Given the description of an element on the screen output the (x, y) to click on. 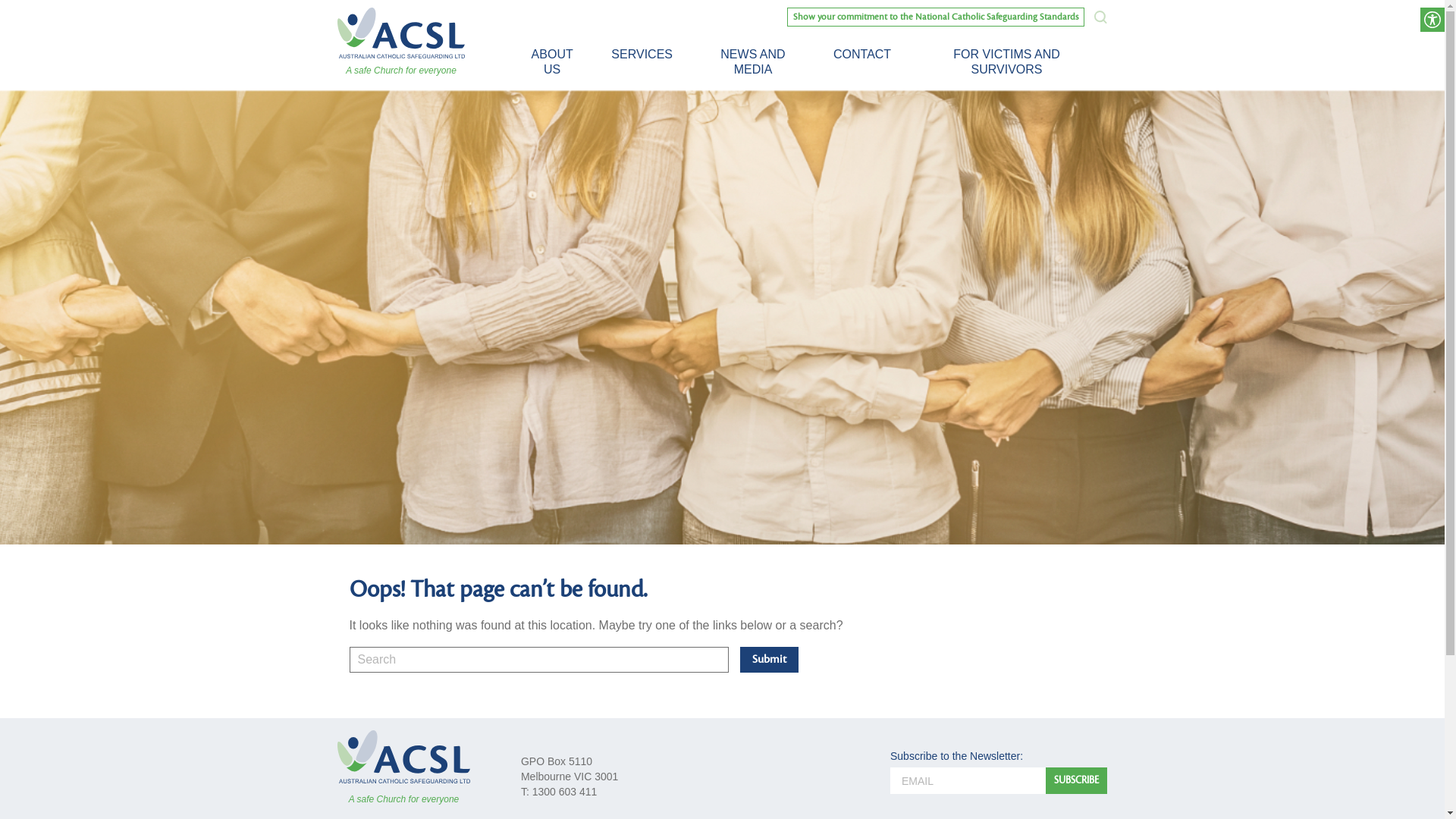
ABOUT US Element type: text (551, 61)
CONTACT Element type: text (861, 54)
NEWS AND MEDIA Element type: text (752, 61)
Submit Element type: text (769, 659)
SERVICES Element type: text (641, 54)
SUBSCRIBE Element type: text (1076, 780)
FOR VICTIMS AND SURVIVORS Element type: text (1006, 61)
A safe Church for everyone Element type: text (403, 766)
